Given the description of an element on the screen output the (x, y) to click on. 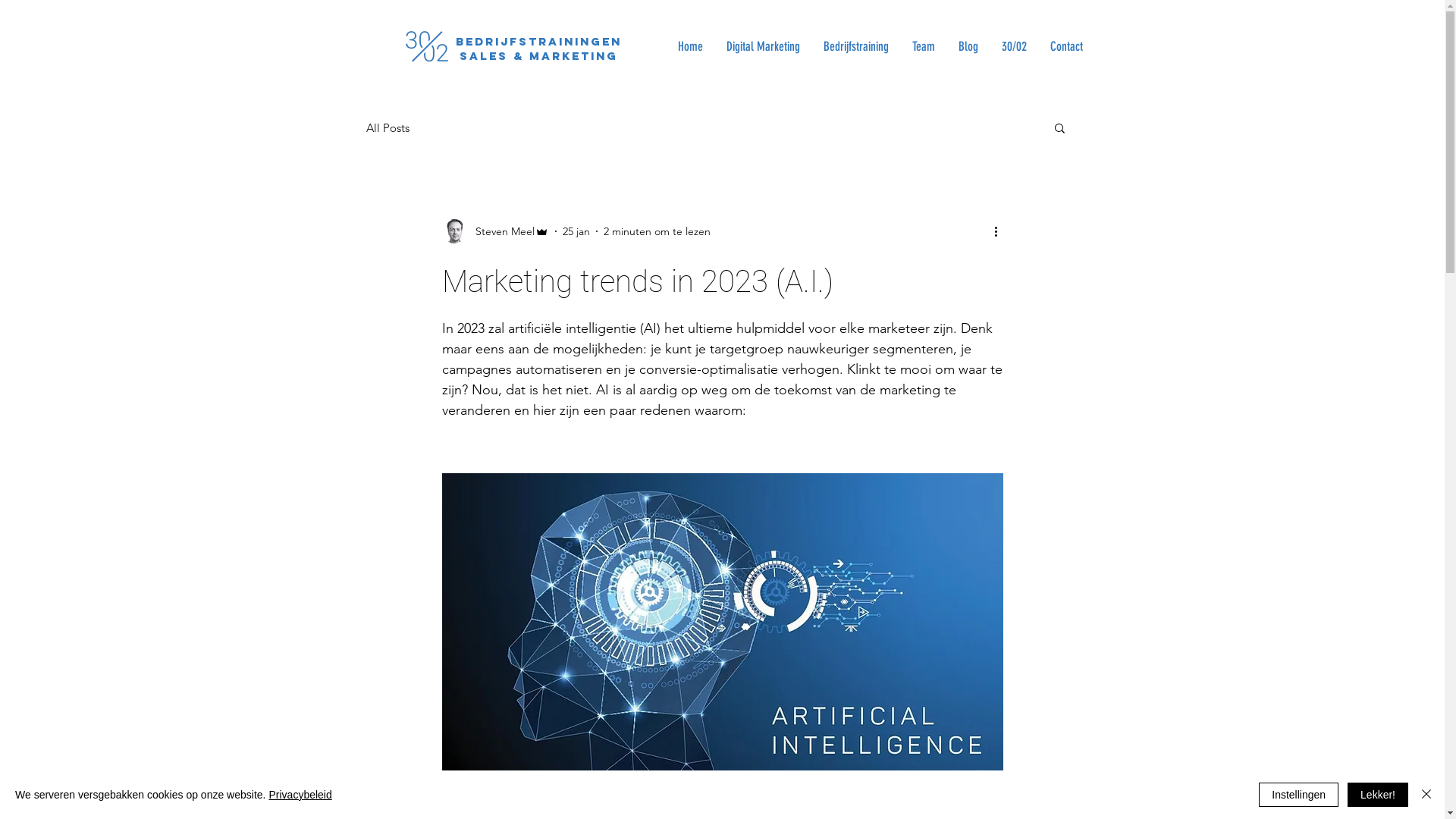
Steven Meel Element type: text (494, 231)
All Posts Element type: text (386, 126)
Blog Element type: text (967, 46)
Bedrijfstraining Element type: text (855, 46)
Home Element type: text (689, 46)
Lekker! Element type: text (1377, 794)
Contact Element type: text (1065, 46)
Privacybeleid Element type: text (299, 794)
Instellingen Element type: text (1298, 794)
Bedrijfstrainingen
Sales & Marketing Element type: text (538, 48)
Team Element type: text (922, 46)
30/02 Element type: text (1012, 46)
Digital Marketing Element type: text (762, 46)
